Given the description of an element on the screen output the (x, y) to click on. 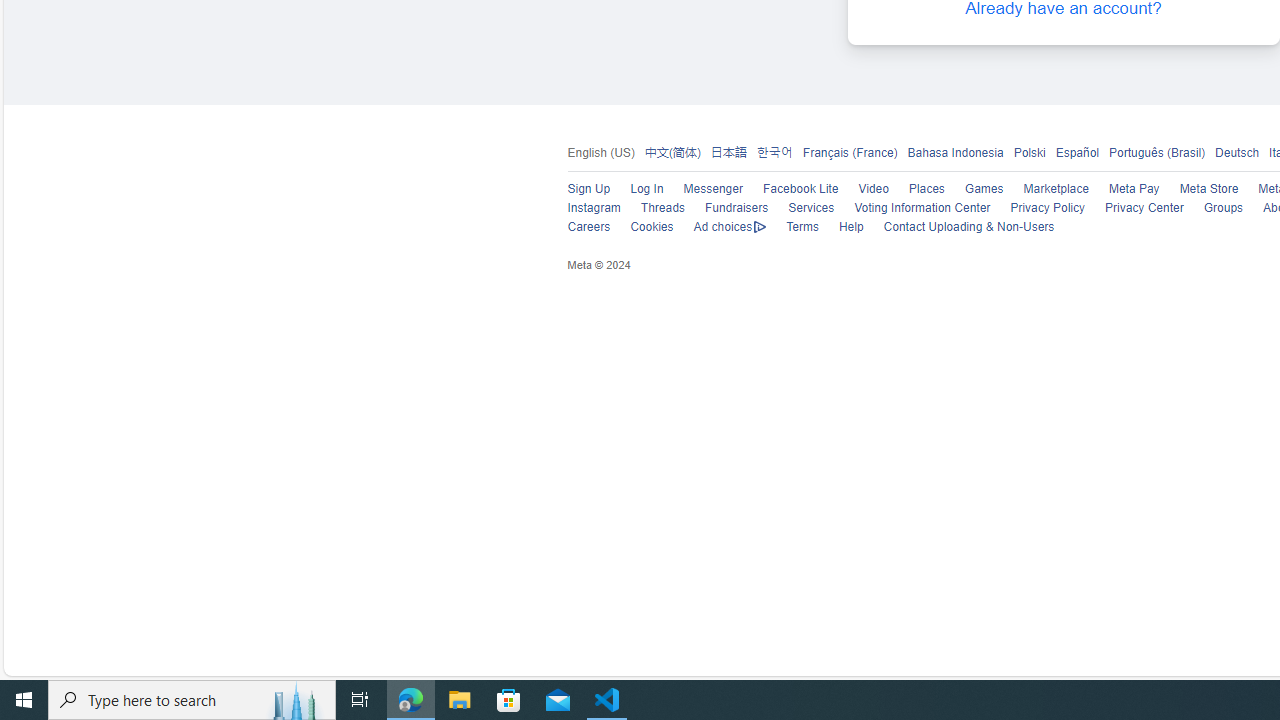
Services (801, 208)
Meta Store (1208, 189)
Sign Up (578, 190)
Voting Information Center (912, 208)
Privacy Policy (1037, 208)
Threads (662, 208)
Log In (637, 190)
Ad choices (729, 228)
Privacy Center (1144, 208)
Groups (1223, 208)
Video (863, 190)
Careers (588, 227)
Contact Uploading & Non-Users (968, 227)
Marketplace (1055, 189)
